Given the description of an element on the screen output the (x, y) to click on. 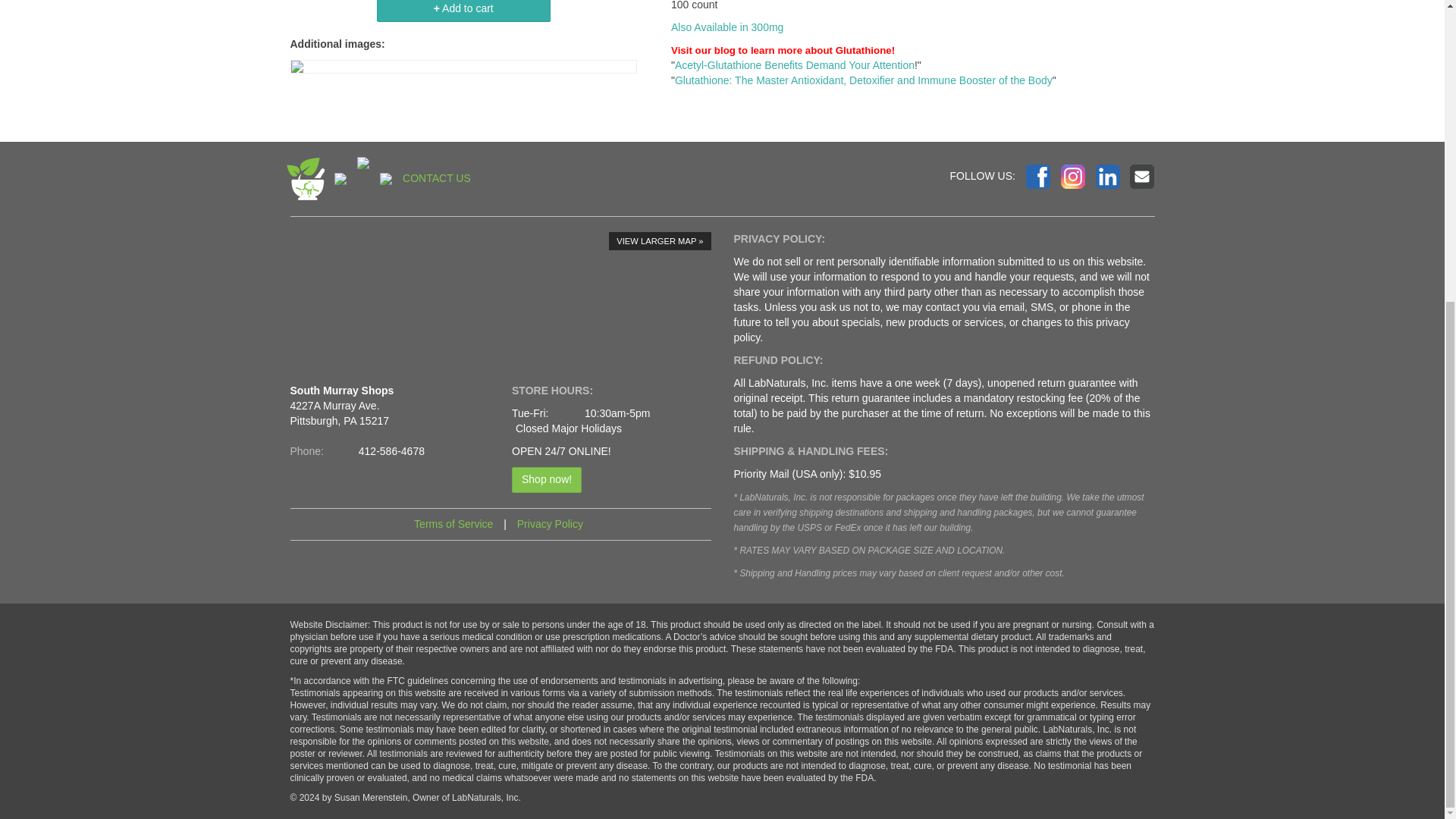
Visit us on Instagram (1072, 176)
Shop now! (546, 479)
Contact Us (1141, 176)
Connect with Susan on LinkedIn (1107, 176)
Terms of Service (453, 523)
Acetyl-Glutathione Benefits Demand Your Attention (794, 64)
Visit us on Facebook (1037, 176)
CONTACT US (436, 177)
Also Available in 300mg (727, 27)
VIEW LARGER MAP (659, 240)
